Given the description of an element on the screen output the (x, y) to click on. 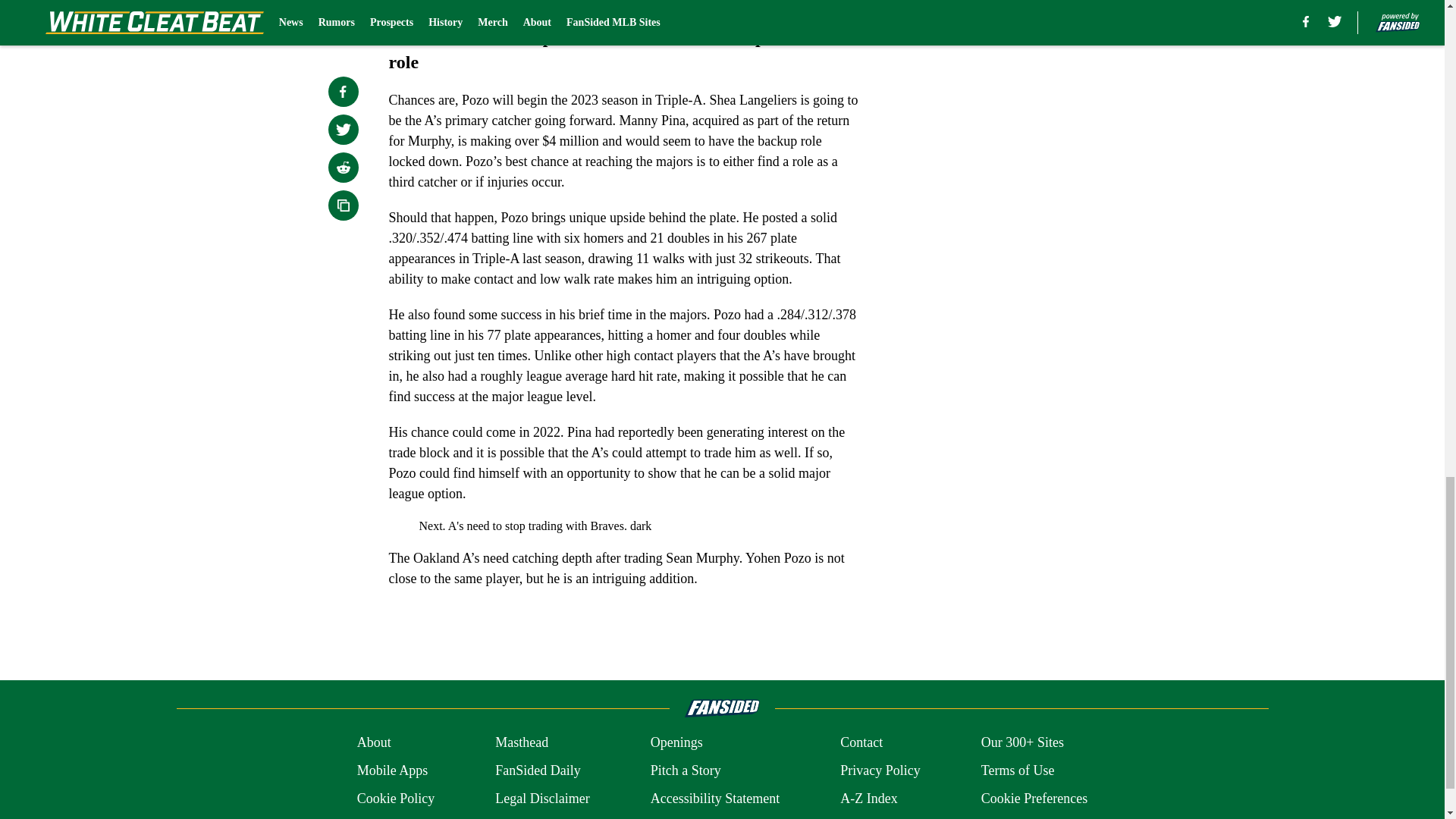
Masthead (521, 742)
Pitch a Story (685, 770)
Openings (676, 742)
Accessibility Statement (714, 798)
Terms of Use (1017, 770)
Mobile Apps (392, 770)
Contact (861, 742)
About (373, 742)
FanSided Daily (537, 770)
Legal Disclaimer (542, 798)
A-Z Index (868, 798)
Privacy Policy (880, 770)
Cookie Policy (395, 798)
Cookie Preferences (1034, 798)
